Given the description of an element on the screen output the (x, y) to click on. 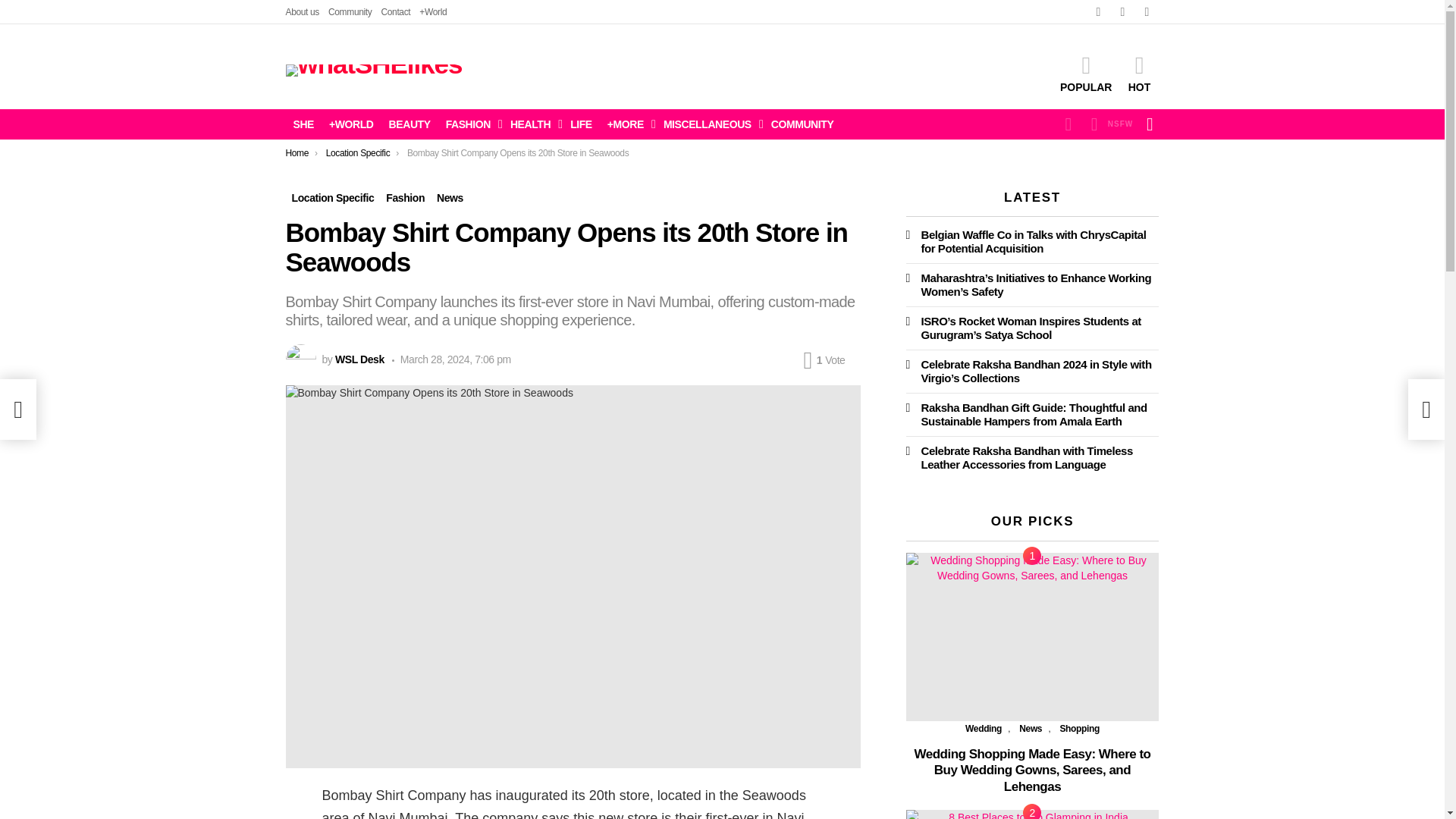
Facebook (1097, 11)
BEAUTY (409, 124)
LIFE (580, 124)
Twitter (1121, 11)
HOT (1138, 73)
SHE (303, 124)
POPULAR (1085, 73)
FASHION (470, 124)
Toggle NSFW (1108, 123)
Contact (395, 12)
